Given the description of an element on the screen output the (x, y) to click on. 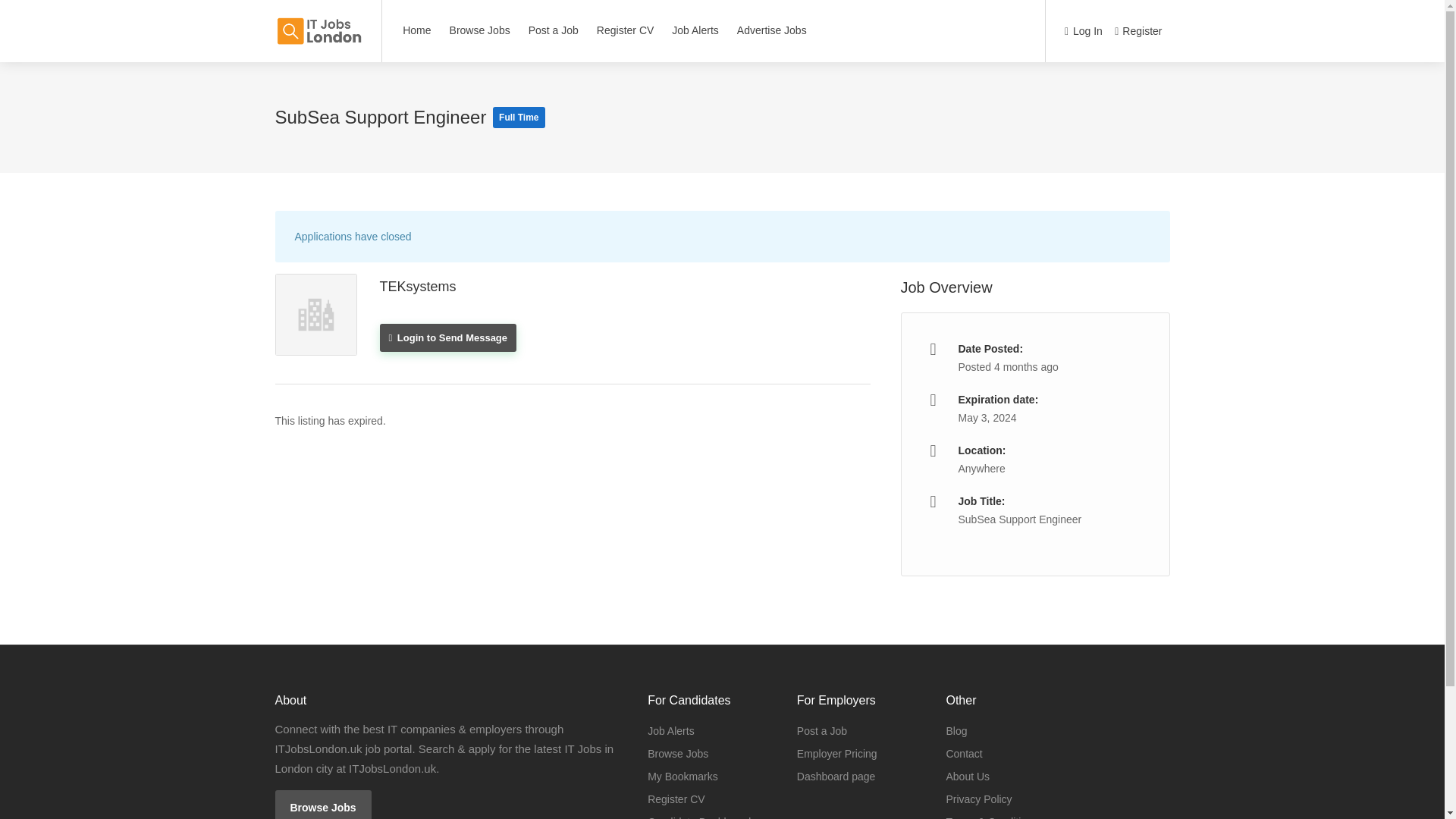
Register CV (625, 30)
My Bookmarks (682, 776)
Post a Job (552, 30)
Post a Job (821, 731)
Privacy Policy (977, 799)
Advertise Jobs (772, 30)
Log In (1083, 31)
Blog (955, 731)
TEKsystems (416, 286)
Browse Jobs (479, 30)
IT Jobs London (318, 22)
Employer Pricing (836, 753)
About Us (967, 776)
Login to Send Message (447, 337)
Job Alerts (694, 30)
